Given the description of an element on the screen output the (x, y) to click on. 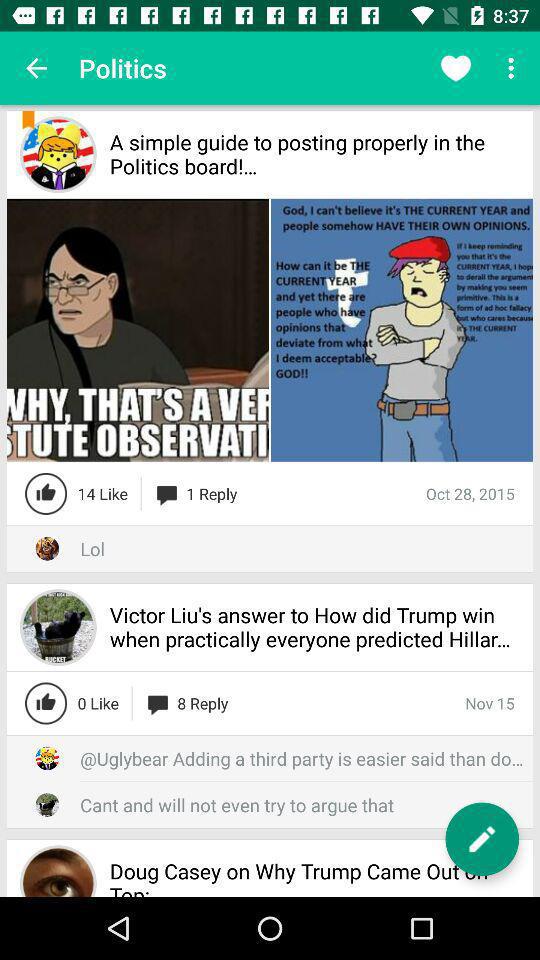
choose item to the right of politics icon (455, 67)
